Given the description of an element on the screen output the (x, y) to click on. 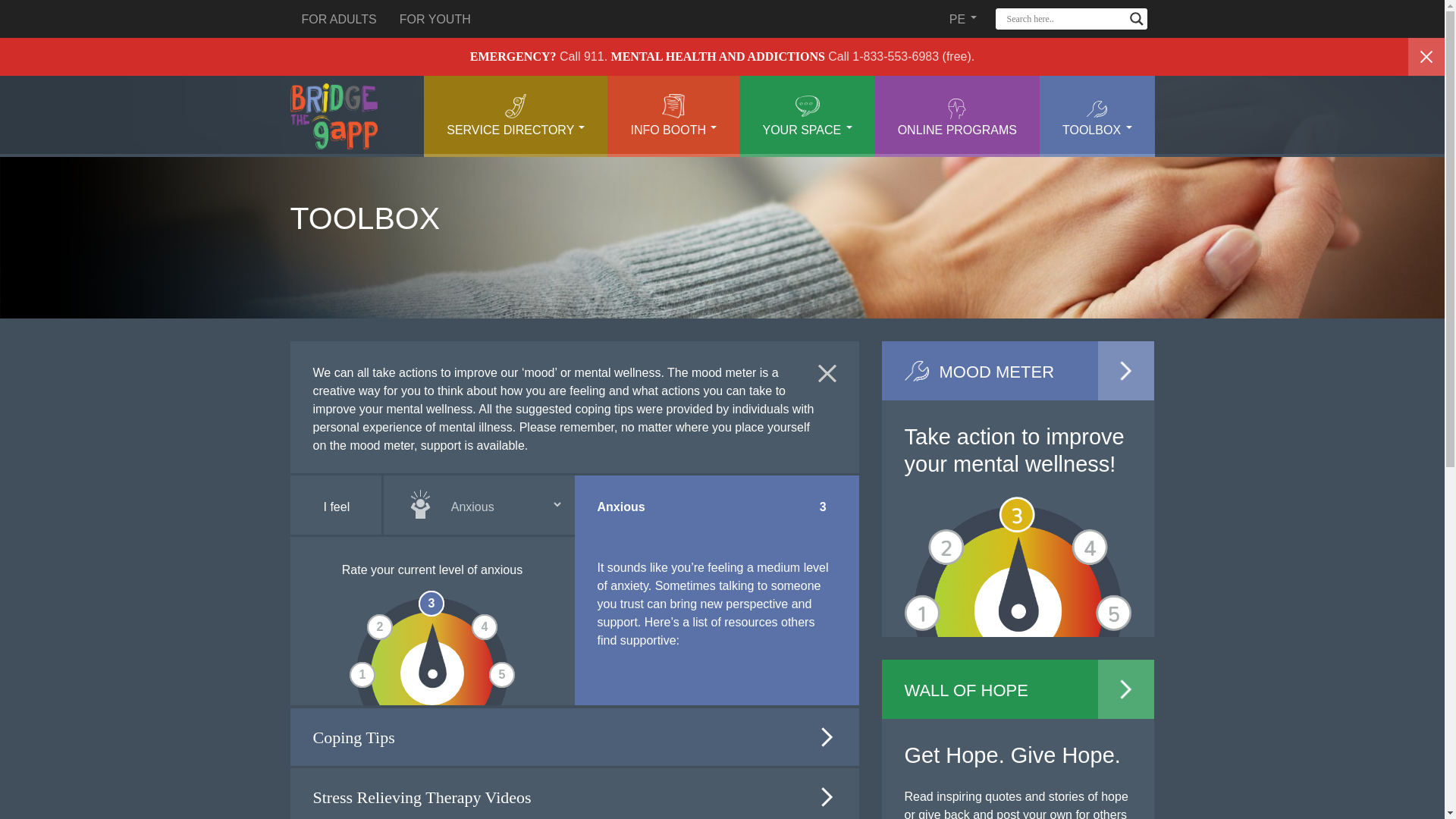
FOR ADULTS (338, 18)
FOR YOUTH (434, 18)
PE (962, 18)
Bridge the gapp (333, 116)
INFO BOOTH (673, 116)
SERVICE DIRECTORY (515, 116)
Service Directory (515, 116)
